Given the description of an element on the screen output the (x, y) to click on. 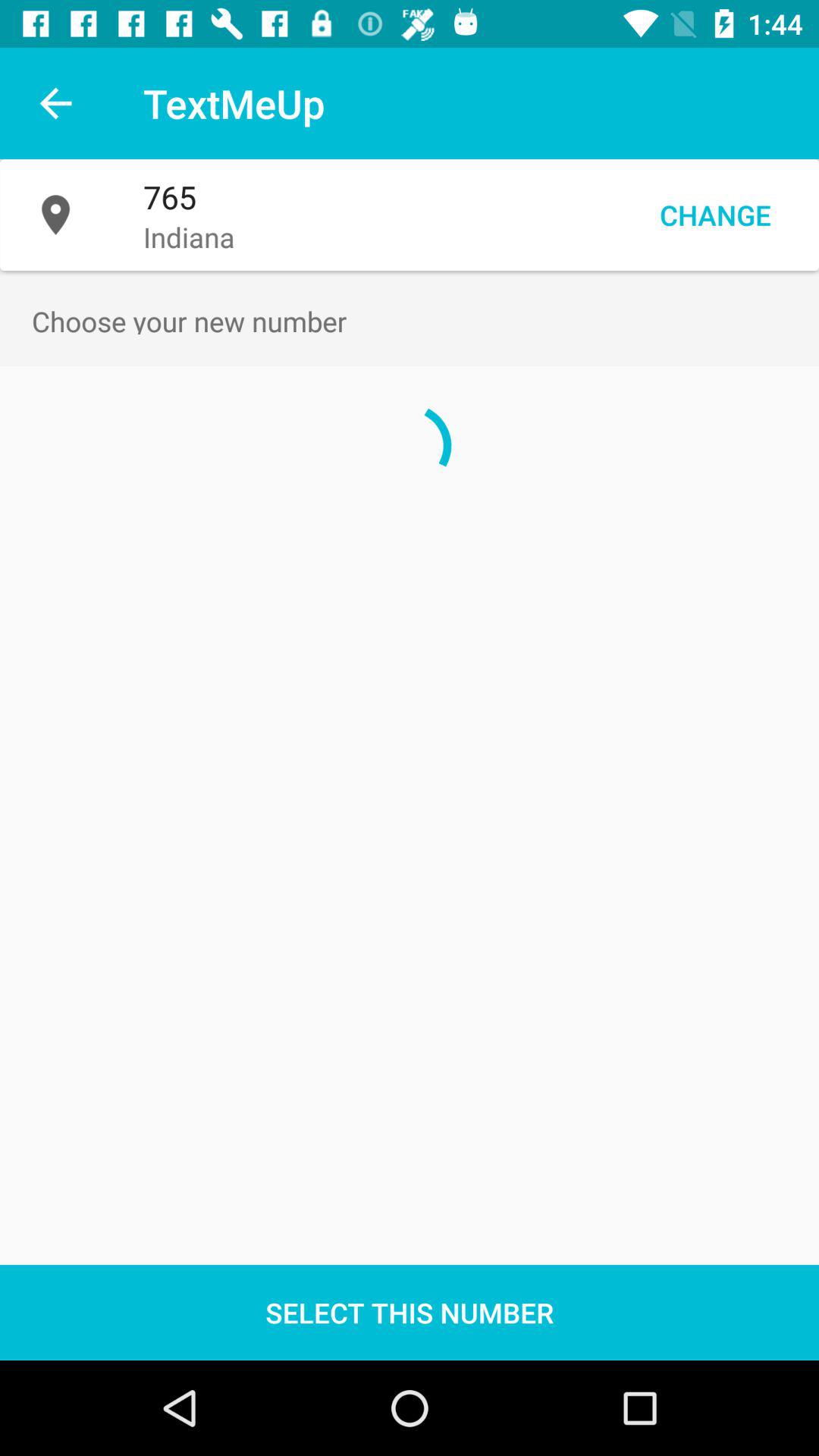
click on change which is next to 765 (715, 215)
